Given the description of an element on the screen output the (x, y) to click on. 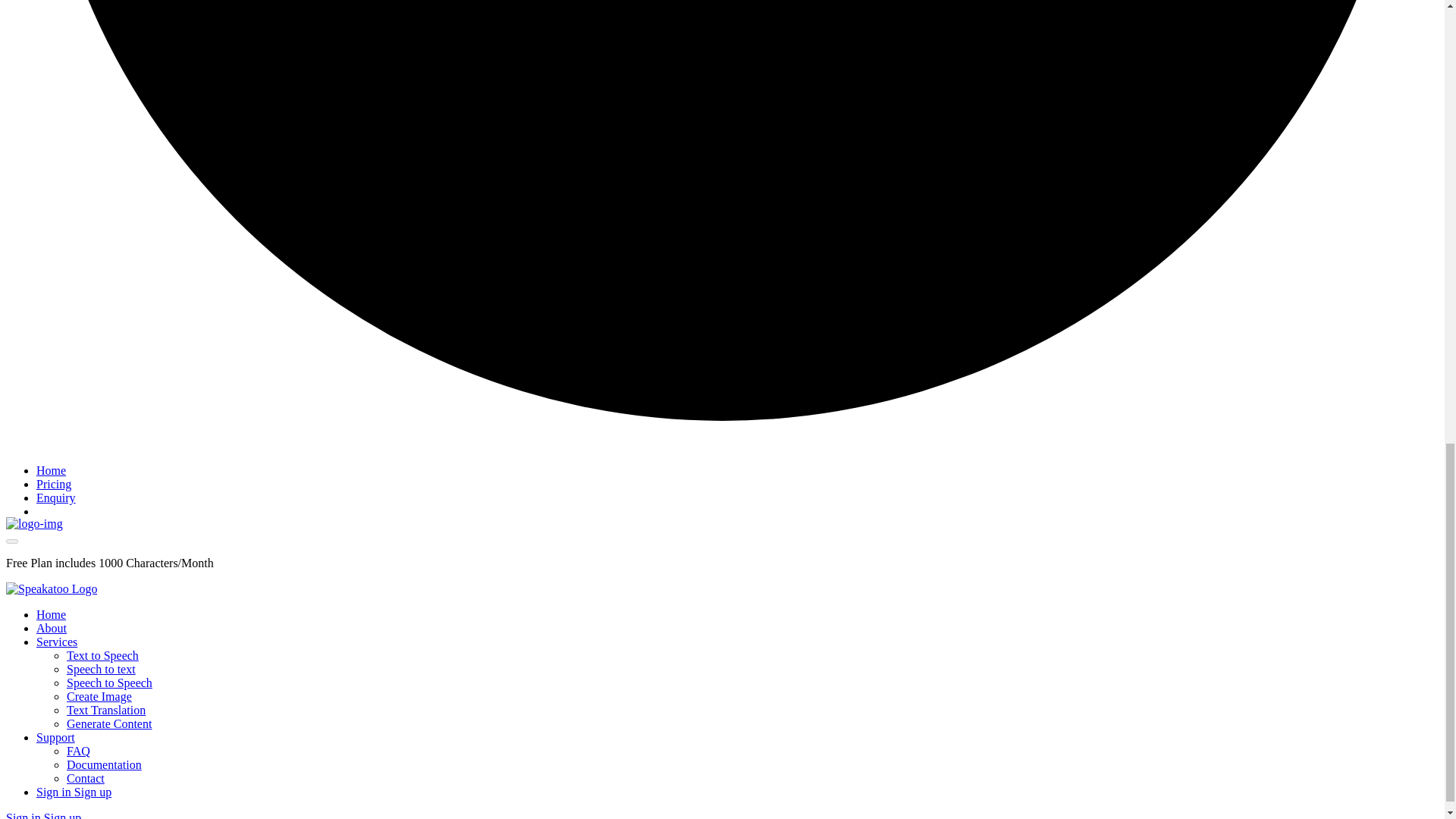
Create Image (99, 696)
Generate Content (108, 723)
Text Translation (105, 709)
Speech to Speech (109, 682)
About (51, 627)
Contact (85, 778)
Home (50, 614)
Text to Speech (102, 655)
Sign up (93, 791)
FAQ (78, 750)
Services (56, 641)
Support (55, 737)
Speech to text (100, 668)
Documentation (103, 764)
Sign in (55, 791)
